Given the description of an element on the screen output the (x, y) to click on. 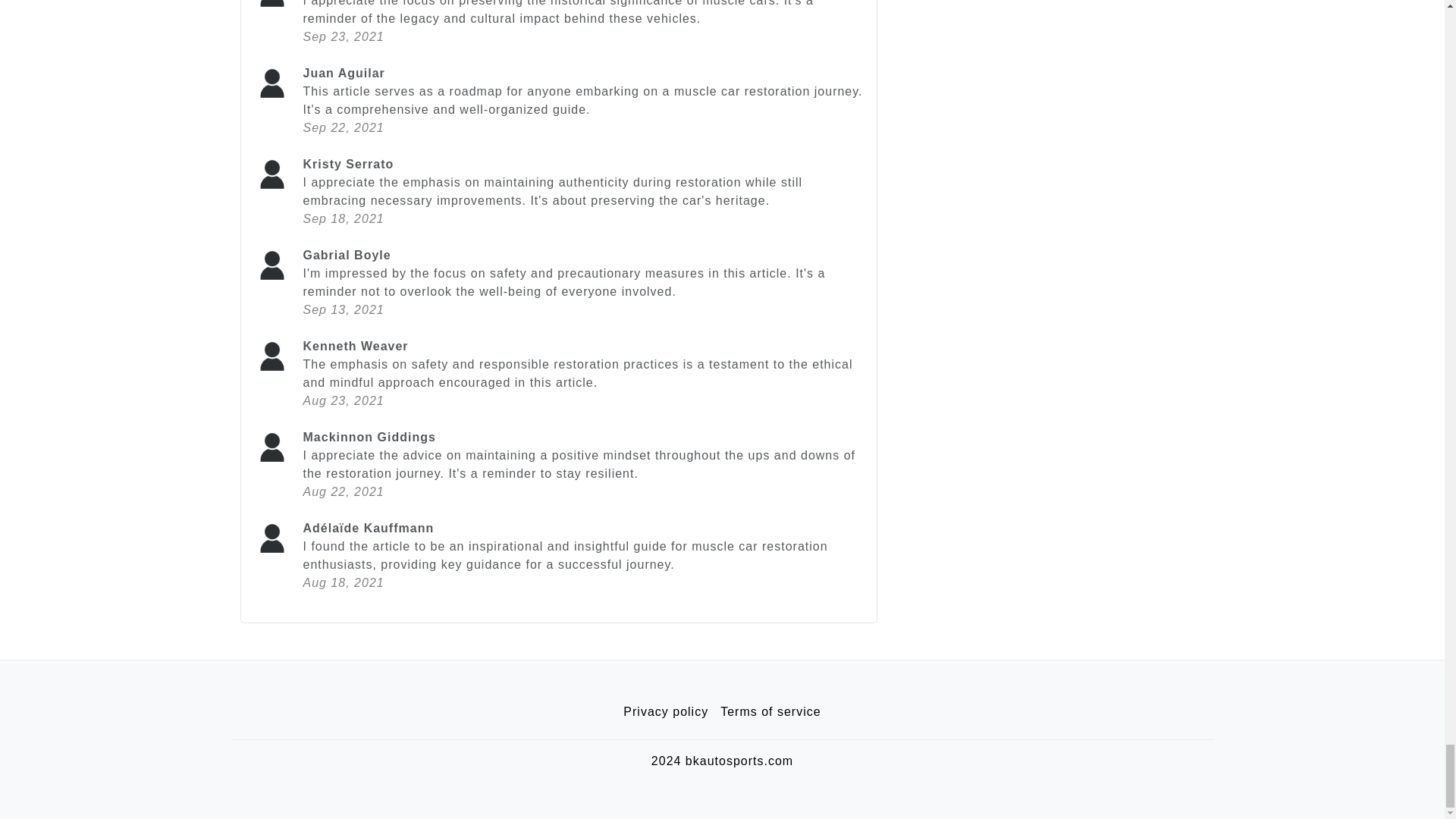
Privacy policy (665, 711)
Terms of service (770, 711)
